Given the description of an element on the screen output the (x, y) to click on. 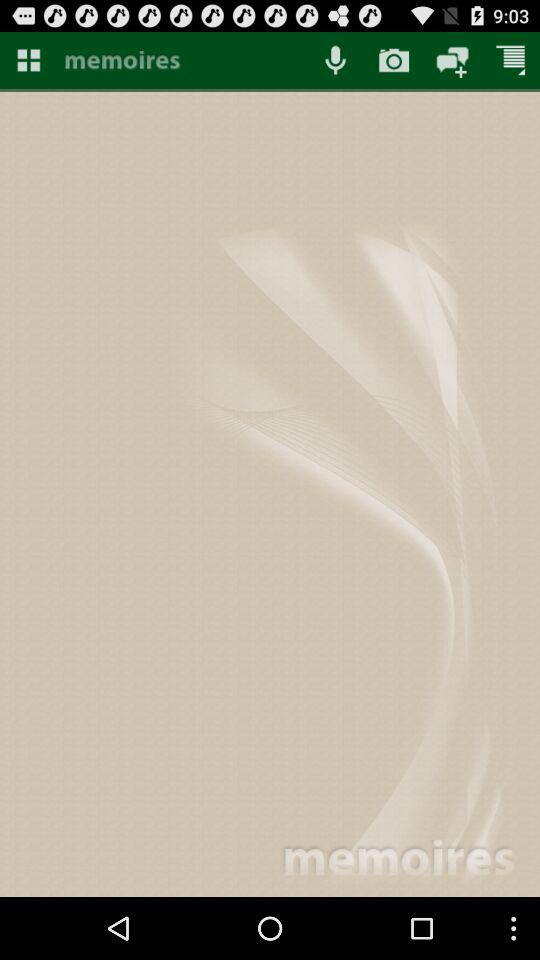
start microphone (335, 60)
